Given the description of an element on the screen output the (x, y) to click on. 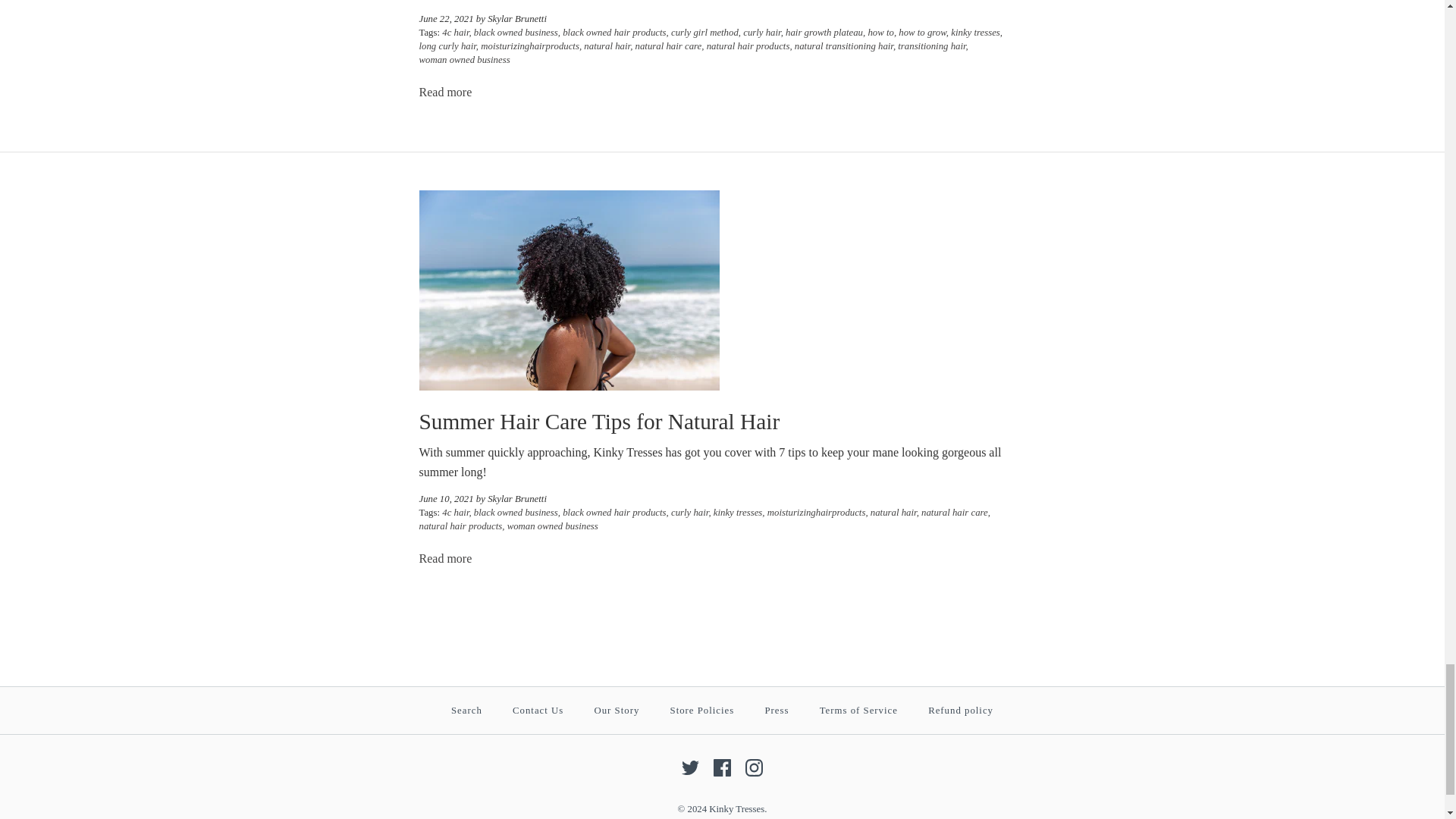
Twitter (689, 767)
Facebook (721, 767)
Instagram (753, 767)
